Given the description of an element on the screen output the (x, y) to click on. 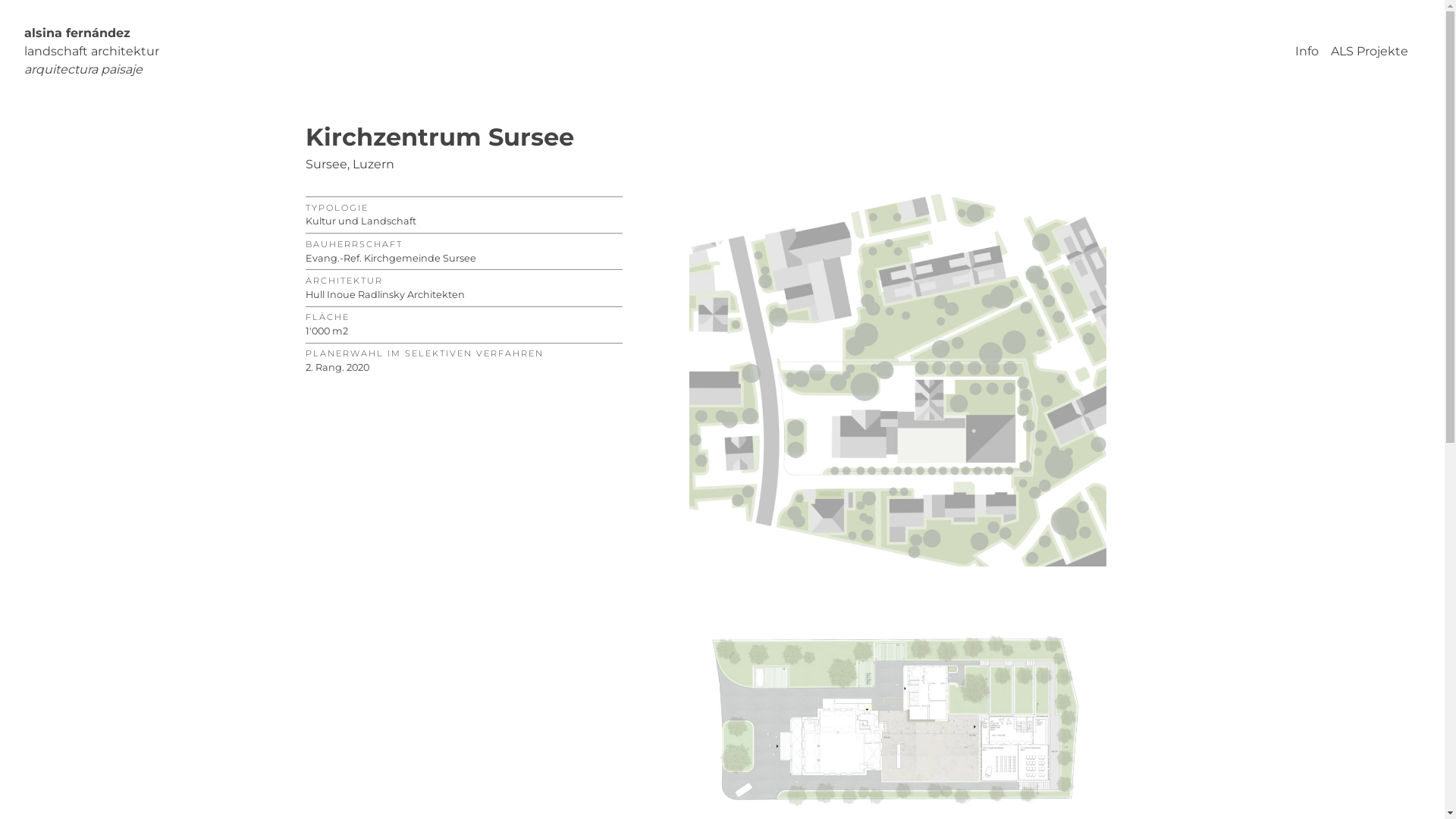
ALS Projekte Element type: text (1369, 50)
Info Element type: text (1306, 50)
